Given the description of an element on the screen output the (x, y) to click on. 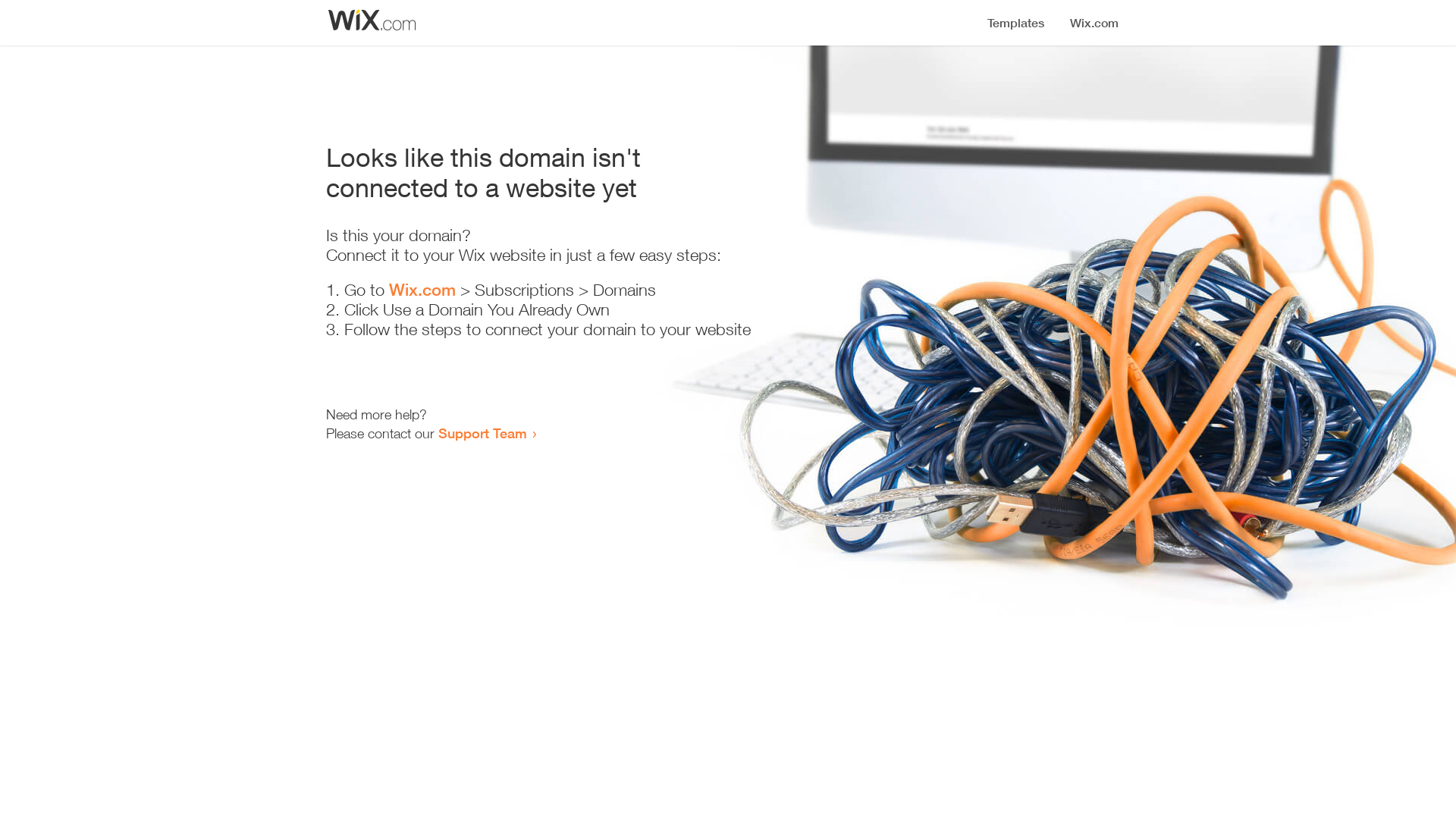
Wix.com Element type: text (422, 289)
Support Team Element type: text (482, 432)
